Given the description of an element on the screen output the (x, y) to click on. 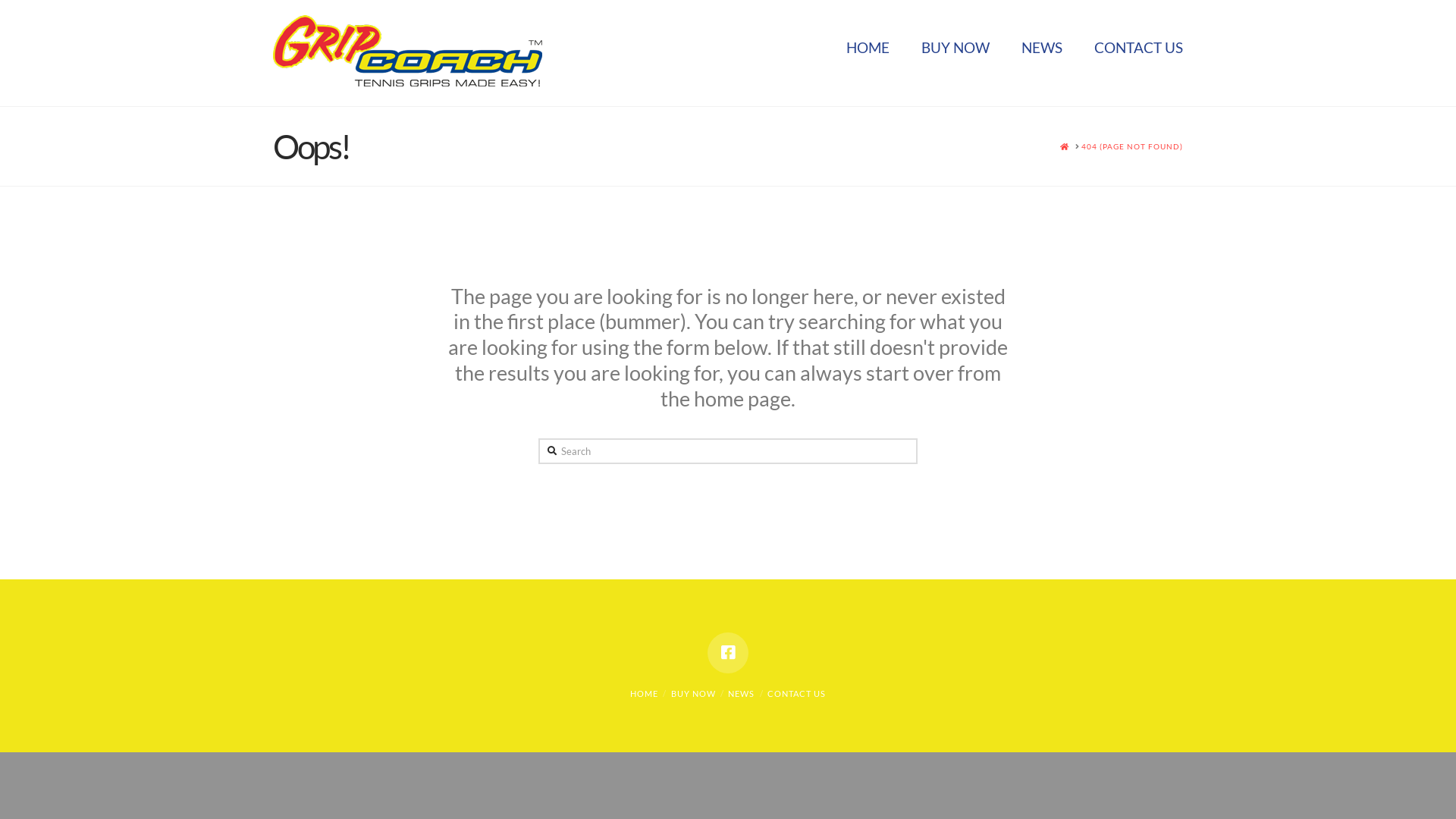
CONTACT US Element type: text (796, 693)
HOME Element type: text (867, 53)
Facebook Element type: hover (727, 652)
HOME Element type: text (1064, 146)
NEWS Element type: text (741, 693)
BUY NOW Element type: text (692, 693)
404 (PAGE NOT FOUND) Element type: text (1132, 146)
NEWS Element type: text (1041, 53)
CONTACT US Element type: text (1130, 53)
BUY NOW Element type: text (955, 53)
HOME Element type: text (644, 693)
